Given the description of an element on the screen output the (x, y) to click on. 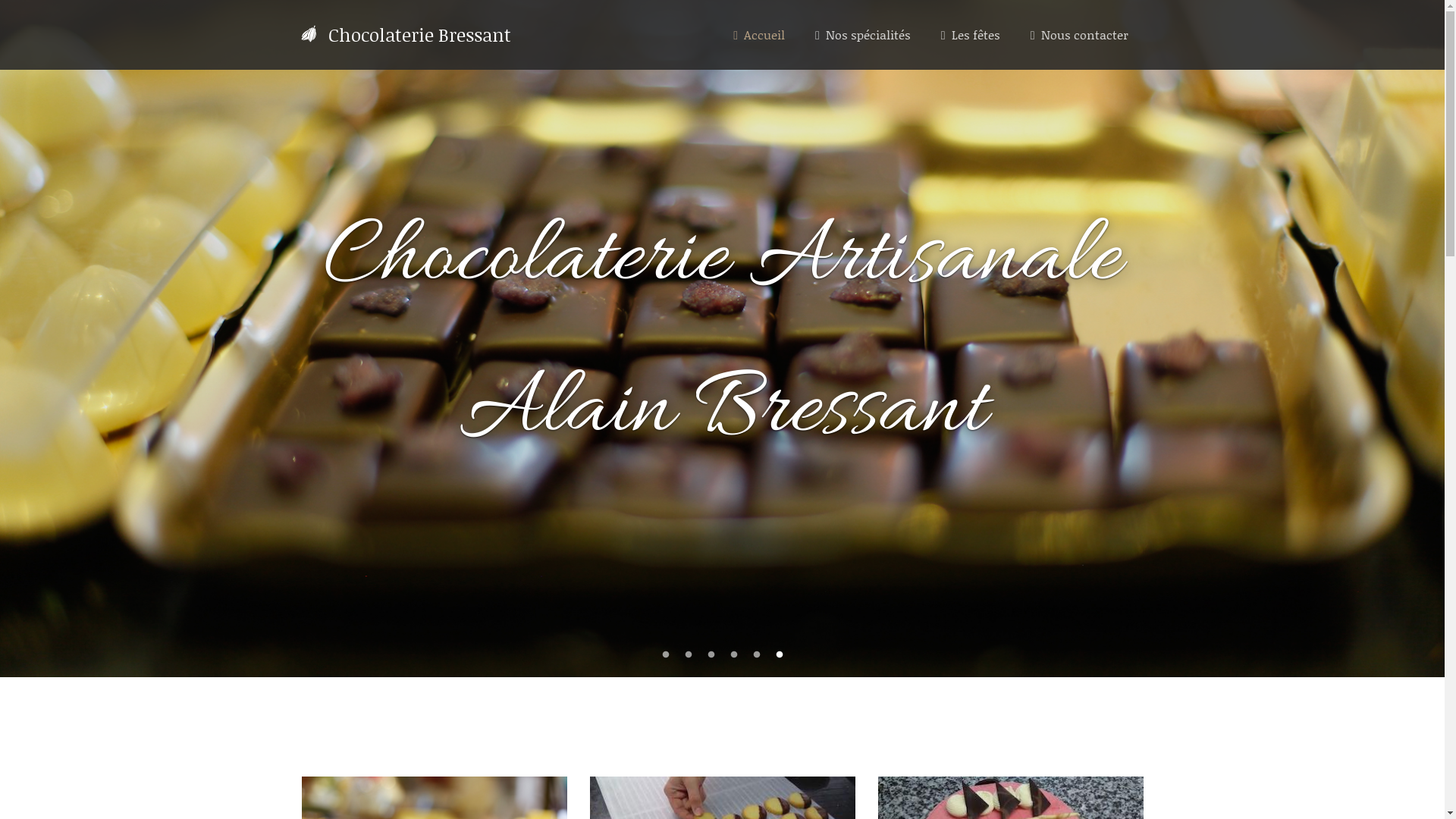
6 Element type: text (779, 654)
1 Element type: text (665, 654)
Accueil Element type: text (759, 34)
Chocolaterie Bressant Element type: text (406, 34)
3 Element type: text (710, 654)
5 Element type: text (756, 654)
4 Element type: text (733, 654)
2 Element type: text (688, 654)
Nous contacter Element type: text (1079, 34)
